Given the description of an element on the screen output the (x, y) to click on. 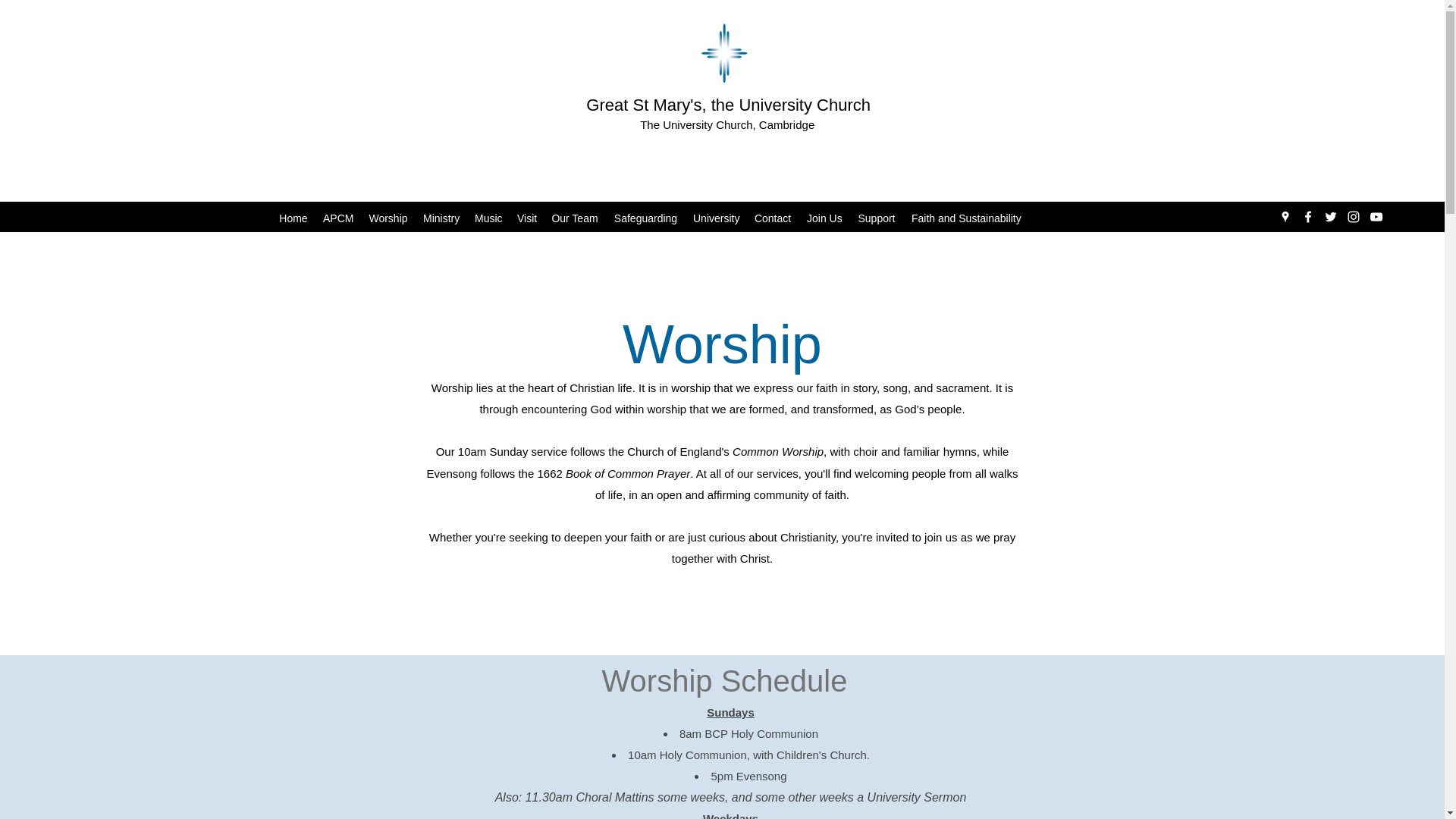
Home (292, 218)
APCM (338, 218)
Ministry (440, 218)
Safeguarding (645, 218)
Join Us (823, 218)
Great St Mary's, the University Church (728, 104)
Contact (772, 218)
Music (488, 218)
Our Team (574, 218)
Support (876, 218)
University (715, 218)
Visit (526, 218)
Worship (387, 218)
